Given the description of an element on the screen output the (x, y) to click on. 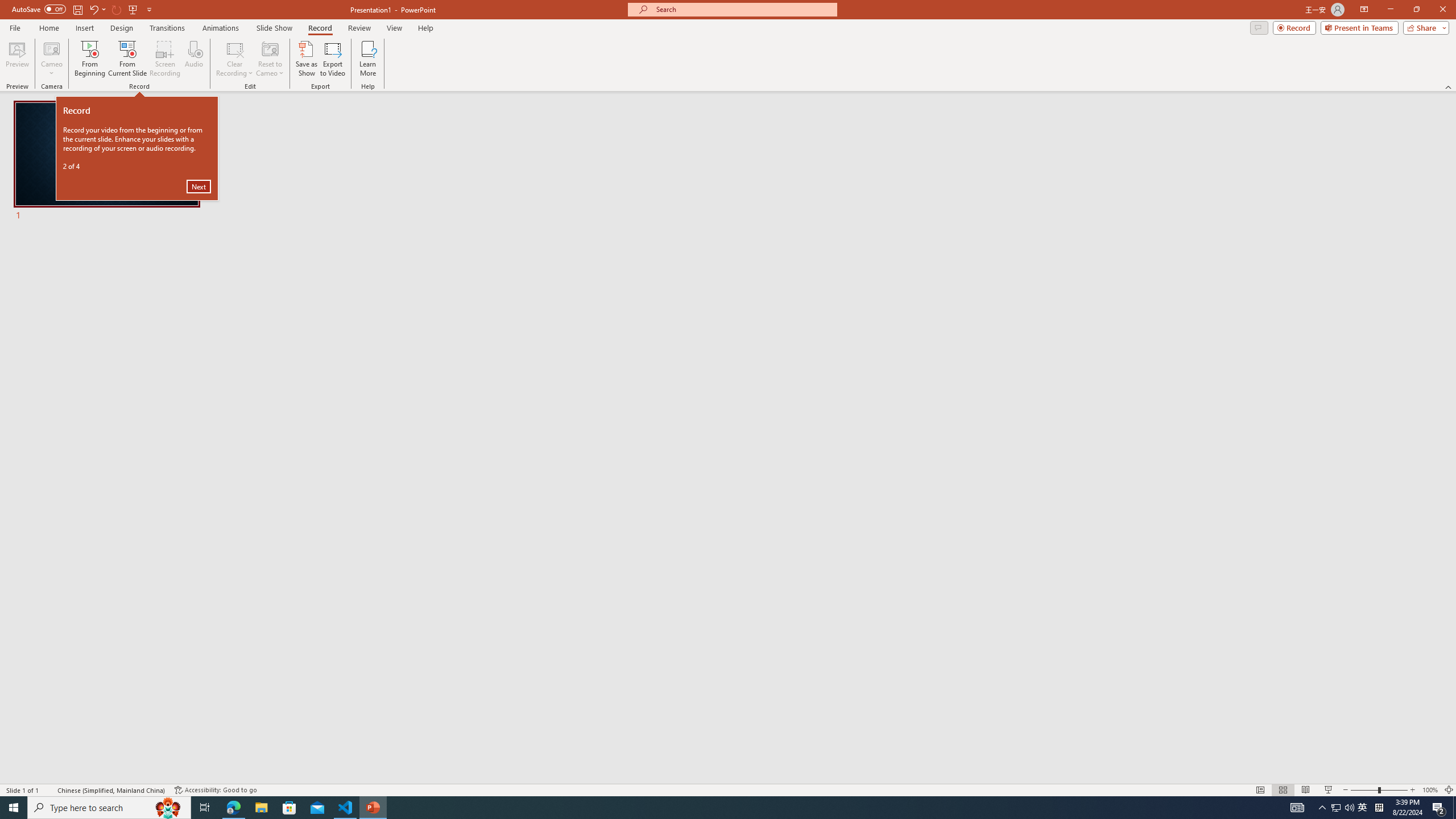
User Promoted Notification Area (1342, 807)
From Beginning (133, 9)
Quick Access Toolbar (82, 9)
AutoSave (38, 9)
Cameo (51, 48)
